Given the description of an element on the screen output the (x, y) to click on. 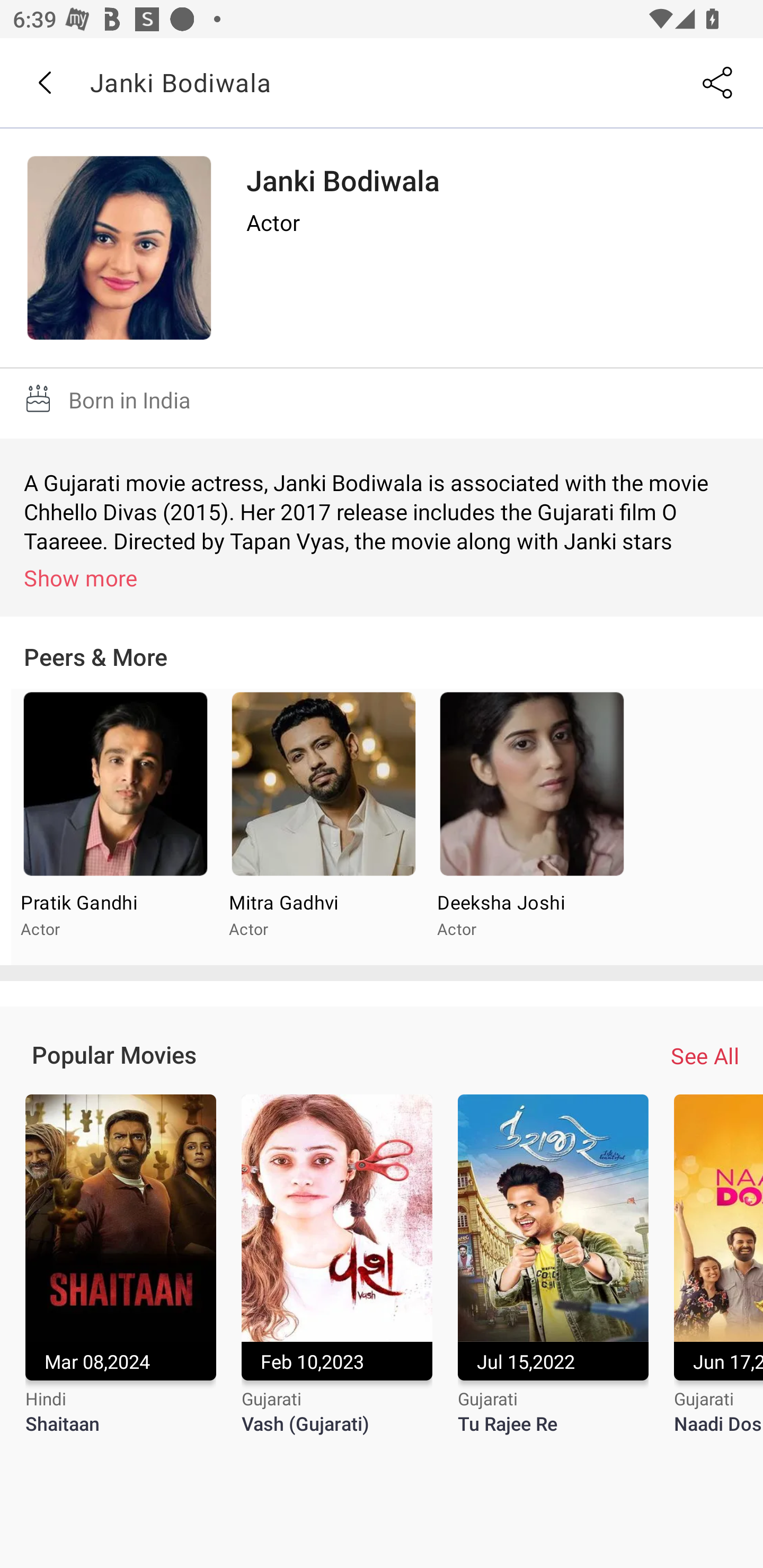
Back (44, 82)
Show more (384, 577)
Pratik Gandhi Actor (115, 826)
Mitra Gadhvi Actor (323, 826)
Deeksha Joshi Actor (531, 826)
See All (704, 1055)
Mar 08,2024 Hindi Shaitaan (120, 1276)
Feb 10,2023 Gujarati Vash (Gujarati) (336, 1276)
Jul 15,2022 Gujarati Tu Rajee Re (552, 1276)
